Given the description of an element on the screen output the (x, y) to click on. 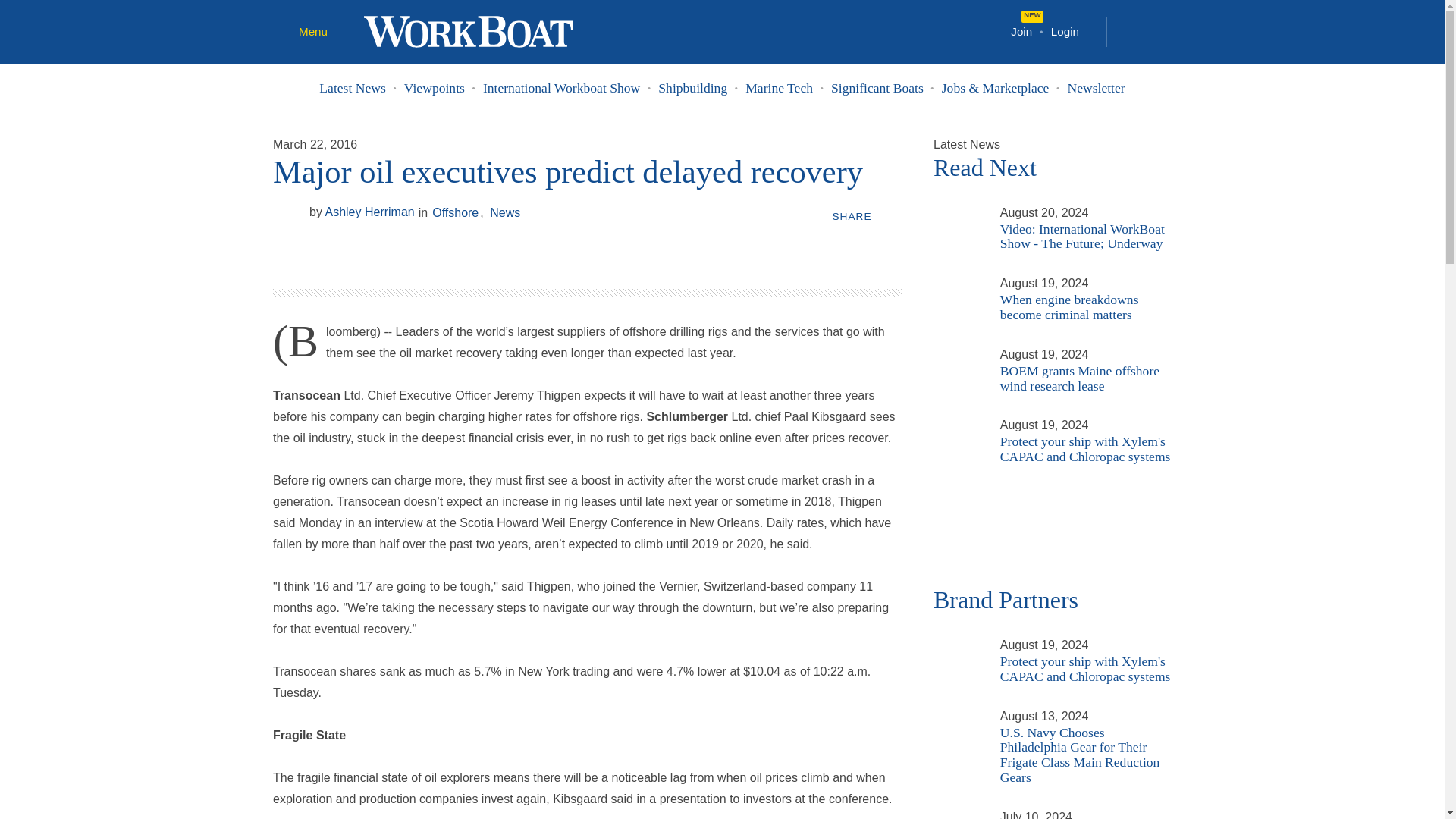
Ashley Herriman (361, 212)
Video: International WorkBoat Show - The Future; Underway (957, 211)
When engine breakdowns become criminal matters (957, 281)
WorkBoat (468, 30)
Ashley Herriman (287, 216)
